Given the description of an element on the screen output the (x, y) to click on. 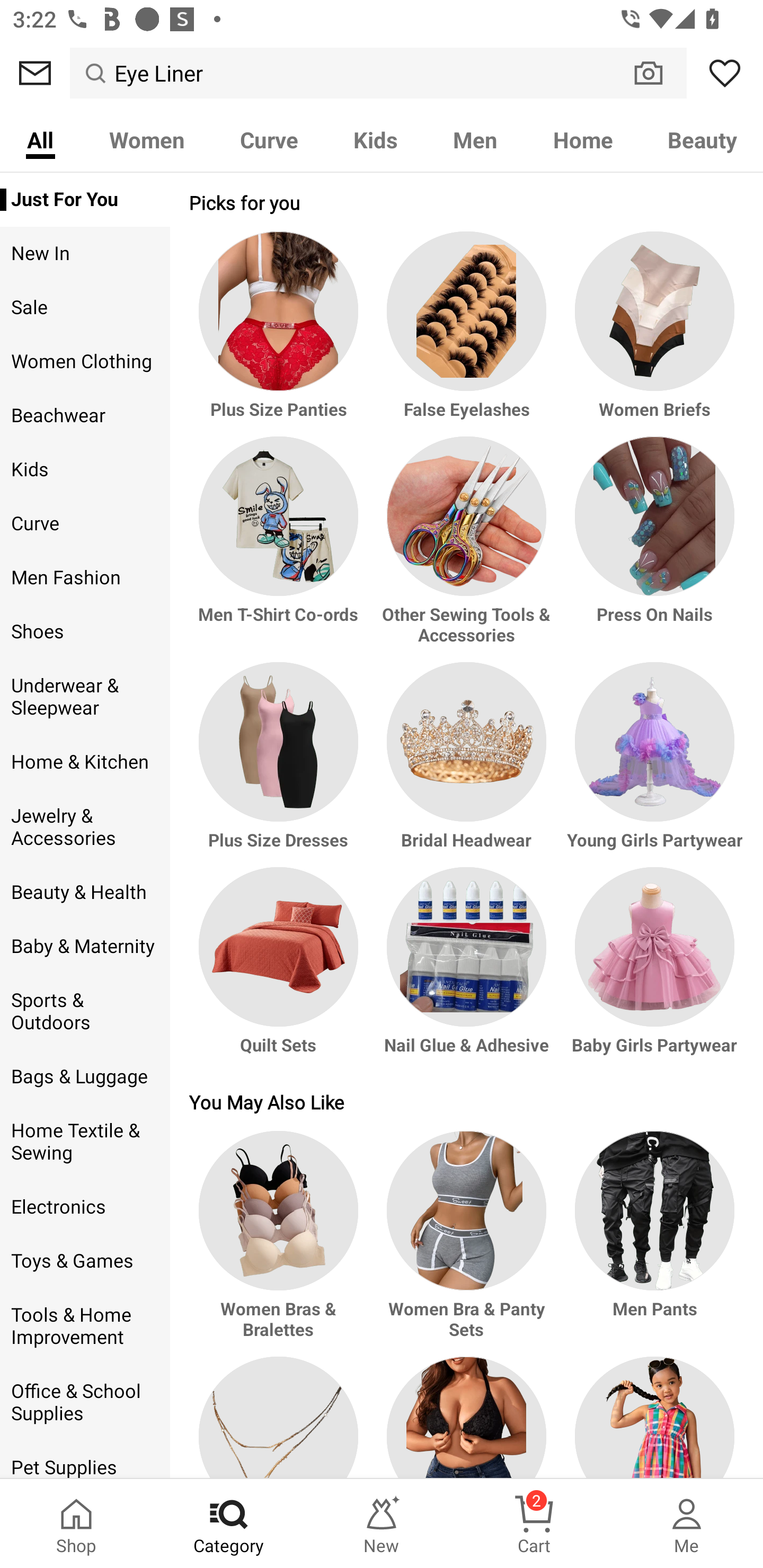
Wishlist (724, 72)
VISUAL SEARCH (657, 72)
All (40, 139)
Women (146, 139)
Curve (268, 139)
Kids (375, 139)
Men (474, 139)
Home (582, 139)
Beauty (701, 139)
Just For You (85, 199)
Picks for you (466, 202)
New In (85, 253)
Plus Size Panties (281, 333)
False Eyelashes (466, 333)
Women Briefs (651, 333)
Sale (85, 307)
Women Clothing (85, 361)
Beachwear (85, 415)
Men T-Shirt Co-ords (281, 548)
Other Sewing Tools & Accessories (466, 548)
Press On Nails (651, 548)
Kids (85, 469)
Curve (85, 523)
Men Fashion (85, 577)
Shoes (85, 631)
Underwear & Sleepwear (85, 696)
Plus Size Dresses (281, 764)
Bridal Headwear (466, 764)
Young Girls Partywear (651, 764)
Home & Kitchen (85, 761)
Jewelry & Accessories (85, 826)
Beauty & Health (85, 891)
Quilt Sets (281, 969)
Nail Glue & Adhesive (466, 969)
Baby Girls Partywear (651, 969)
Baby & Maternity (85, 945)
Sports & Outdoors (85, 1011)
Bags & Luggage (85, 1076)
You May Also Like (466, 1101)
Home Textile & Sewing (85, 1141)
Women Bras & Bralettes (281, 1243)
Women Bra & Panty Sets (466, 1243)
Men Pants (651, 1243)
Electronics (85, 1207)
Toys & Games (85, 1261)
Tools & Home Improvement (85, 1326)
Office & School Supplies (85, 1402)
Pet Supplies (85, 1459)
Shop (76, 1523)
New (381, 1523)
Cart 2 Cart (533, 1523)
Me (686, 1523)
